Given the description of an element on the screen output the (x, y) to click on. 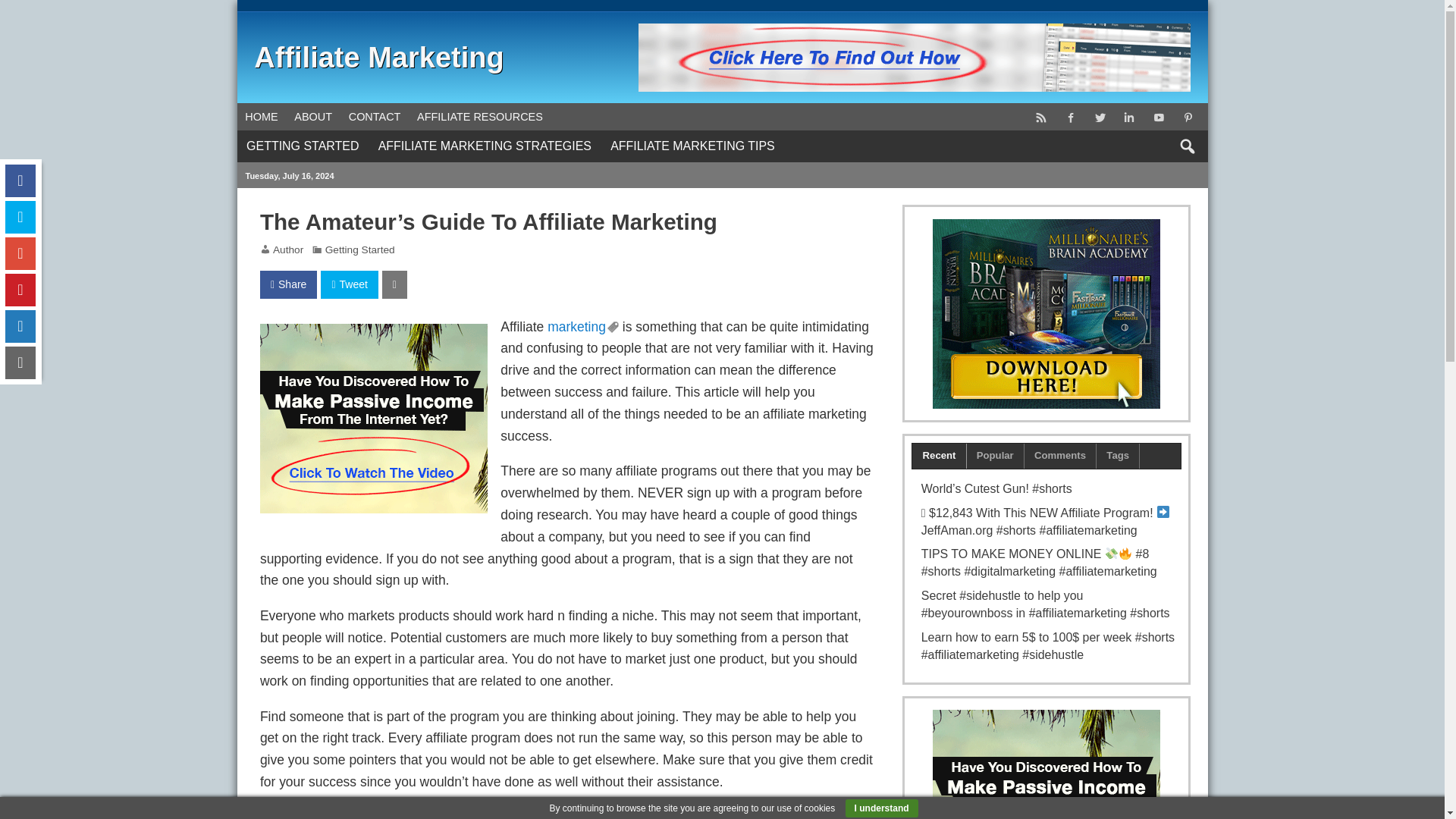
marketing (582, 326)
AFFILIATE RESOURCES (479, 116)
AFFILIATE MARKETING TIPS (692, 145)
Author (287, 249)
View all posts by Author (287, 249)
CB Passive Income (373, 334)
Share (288, 284)
CB Passive Income (915, 57)
Tweet on Twitter (348, 284)
CONTACT (374, 116)
Share On Facebook (288, 284)
ABOUT (312, 116)
Getting Started (359, 249)
AFFILIATE MARKETING STRATEGIES (484, 145)
GETTING STARTED (301, 145)
